Given the description of an element on the screen output the (x, y) to click on. 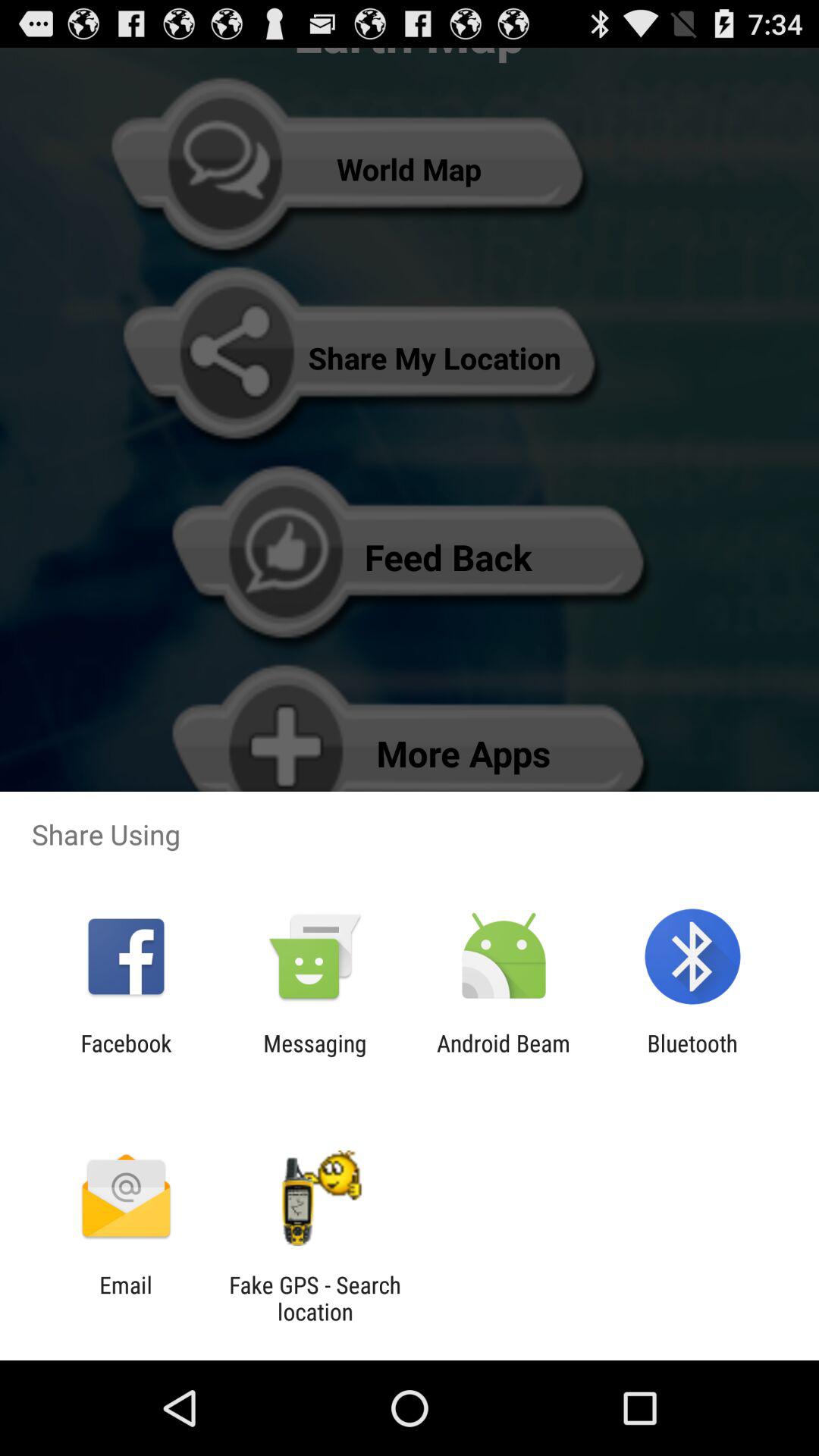
launch the android beam item (503, 1056)
